Given the description of an element on the screen output the (x, y) to click on. 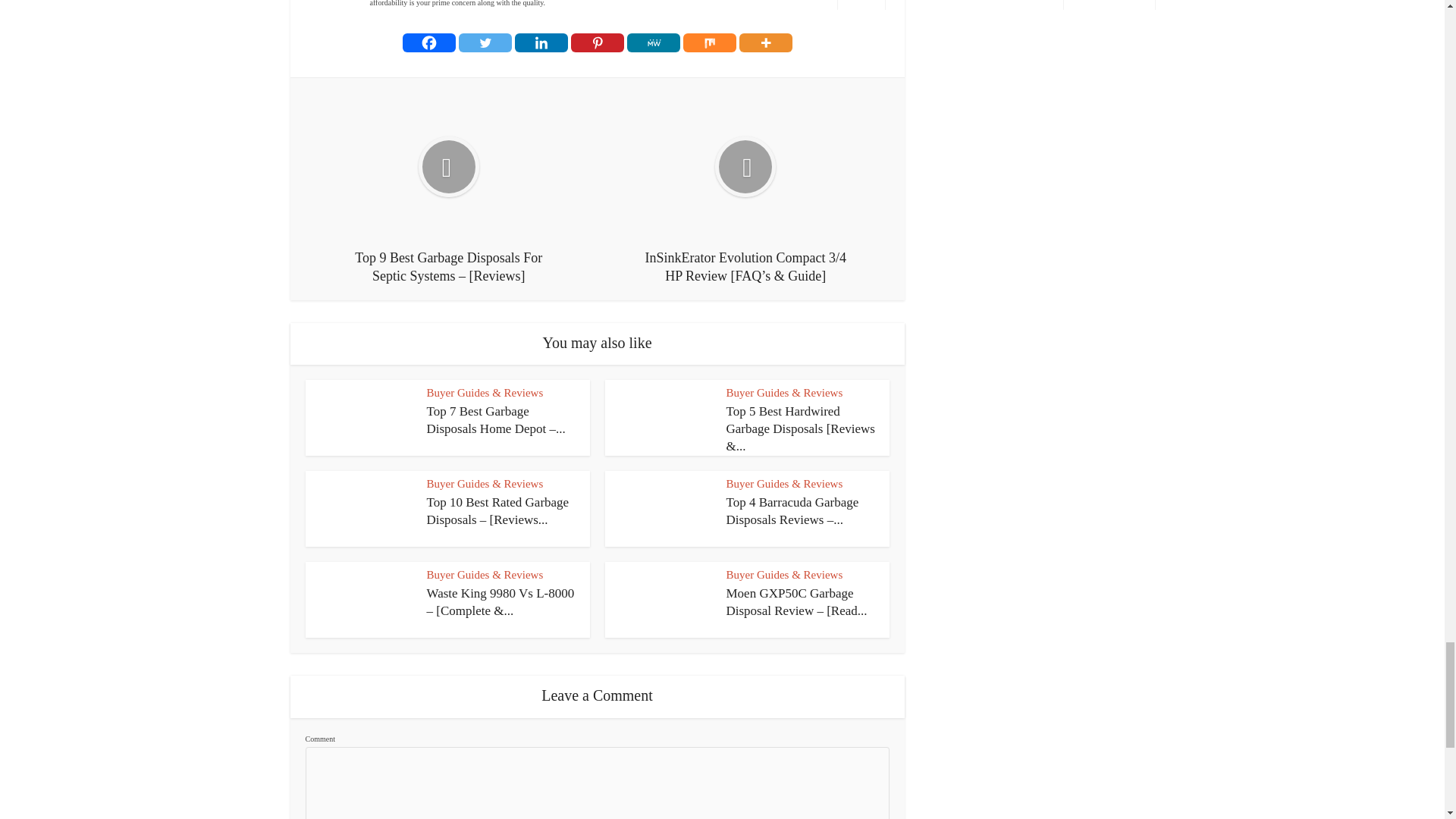
Facebook (427, 42)
Twitter (484, 42)
Linkedin (540, 42)
More (765, 42)
MeWe (652, 42)
Mix (708, 42)
Pinterest (596, 42)
